Given the description of an element on the screen output the (x, y) to click on. 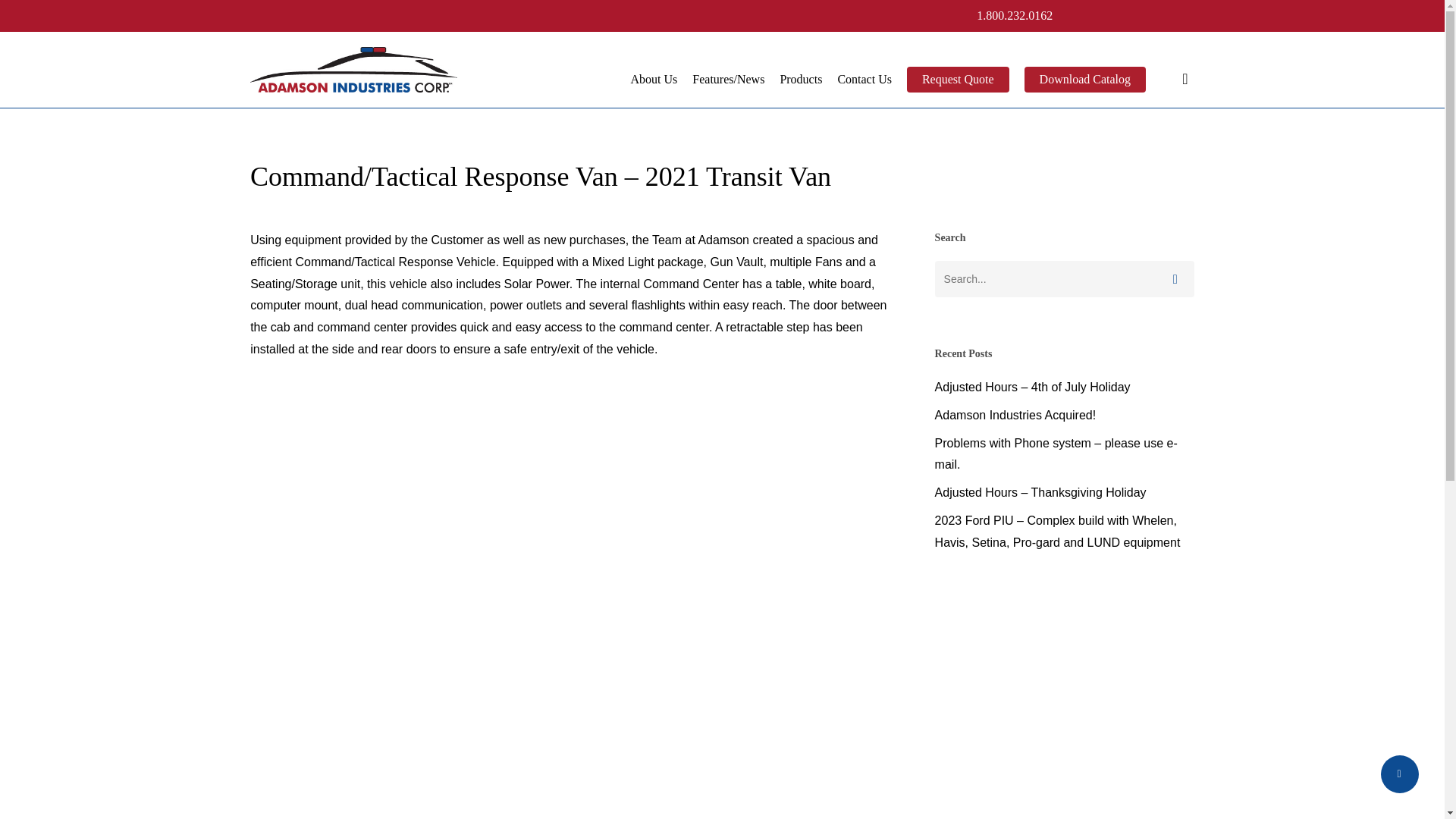
Download Catalog (1085, 78)
search (1184, 78)
Products (800, 78)
About Us (654, 78)
Request Quote (958, 78)
Contact Us (864, 78)
Search for: (1063, 279)
